Given the description of an element on the screen output the (x, y) to click on. 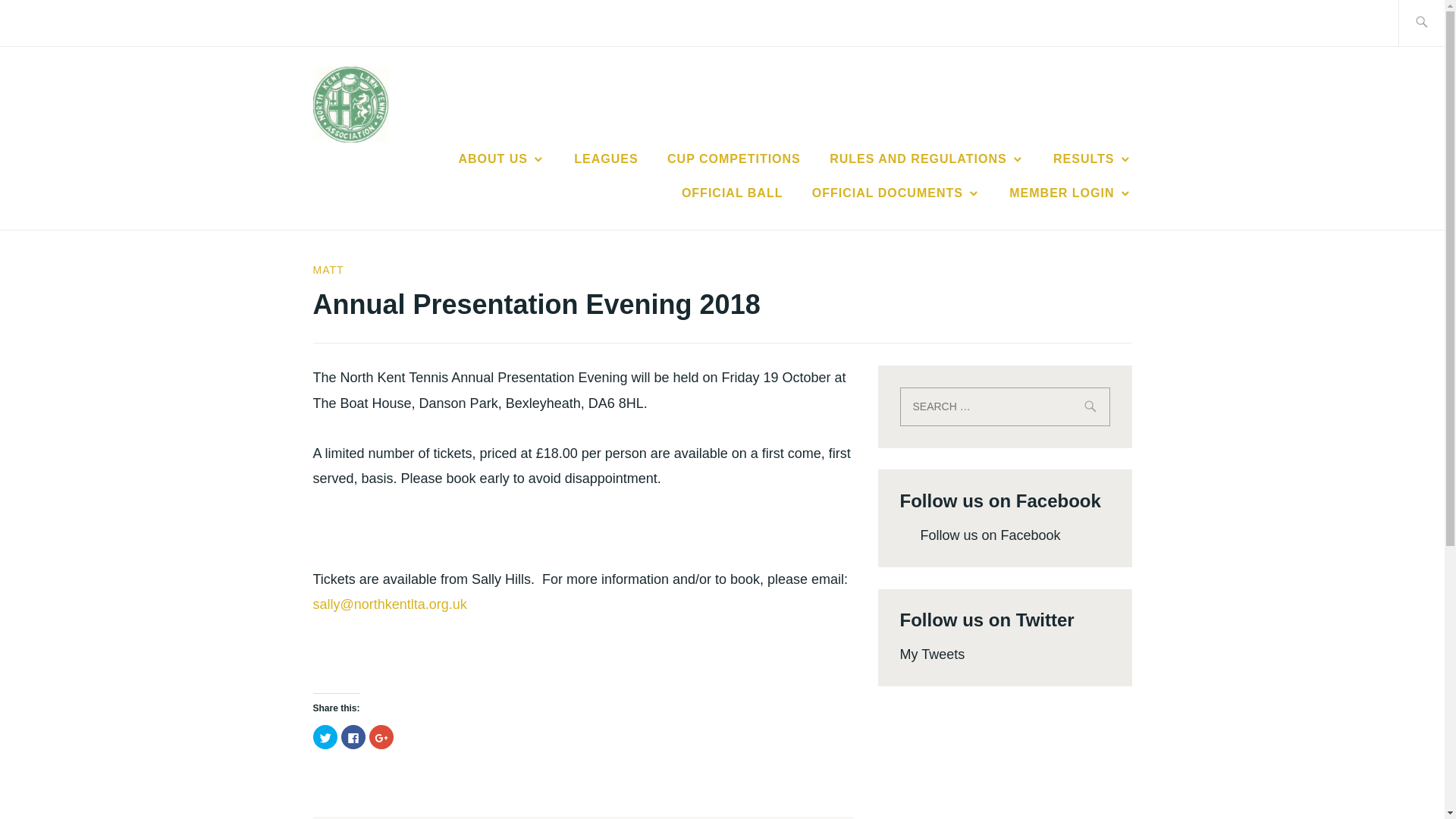
CUP COMPETITIONS (733, 159)
Search for: (1004, 406)
Search (47, 22)
MEMBER LOGIN (1070, 192)
RESULTS (1091, 159)
OFFICIAL BALL (732, 192)
ABOUT US (501, 159)
RULES AND REGULATIONS (926, 159)
Click to share on Facebook (352, 736)
Click to share on Twitter (324, 736)
